Given the description of an element on the screen output the (x, y) to click on. 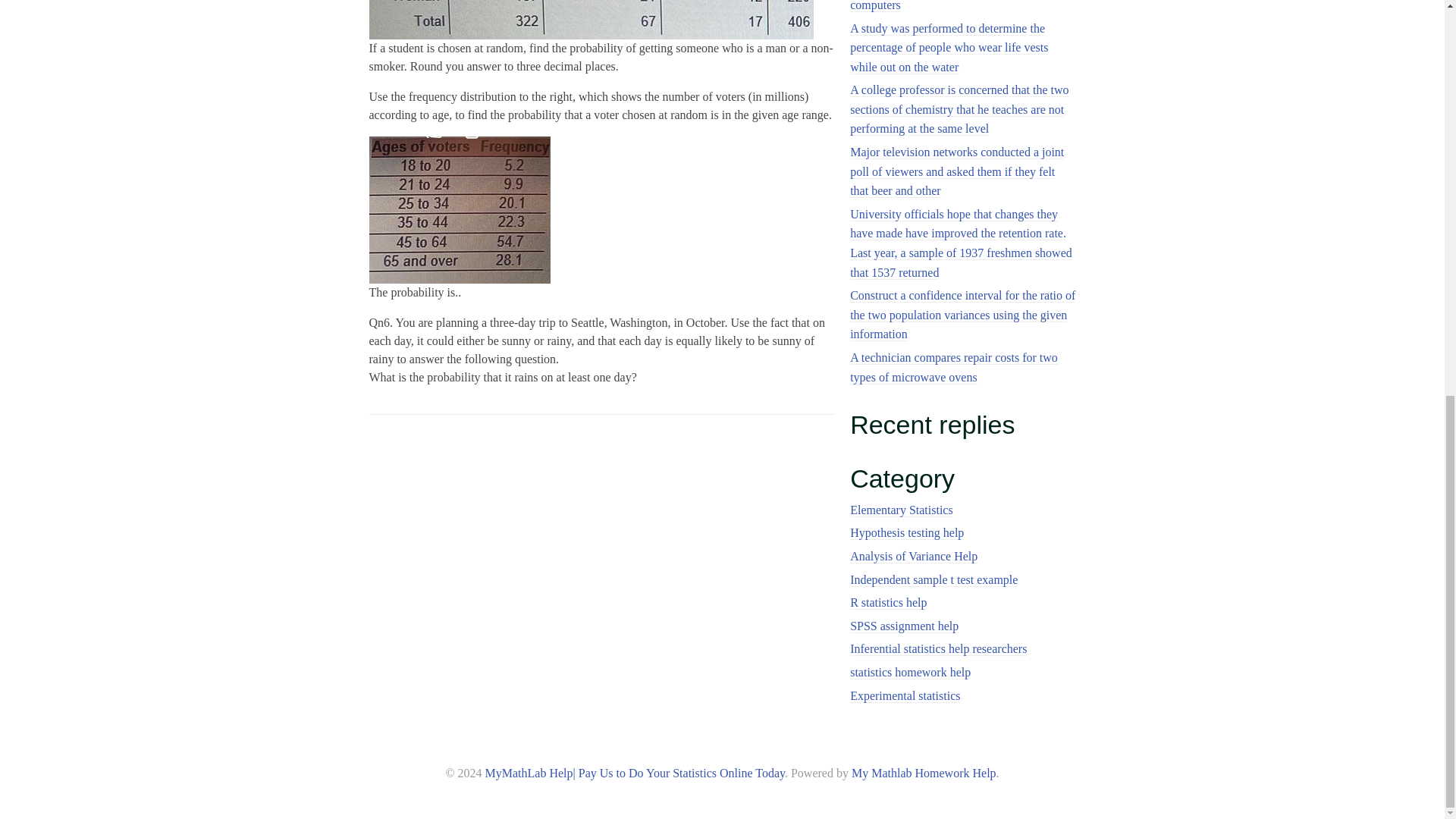
probability table.png (459, 209)
statistics homework help (910, 672)
My Mathlab Homework Help (923, 772)
Independent sample t test example (933, 580)
Hypothesis testing help (906, 532)
Inferential statistics help researchers (938, 649)
